Given the description of an element on the screen output the (x, y) to click on. 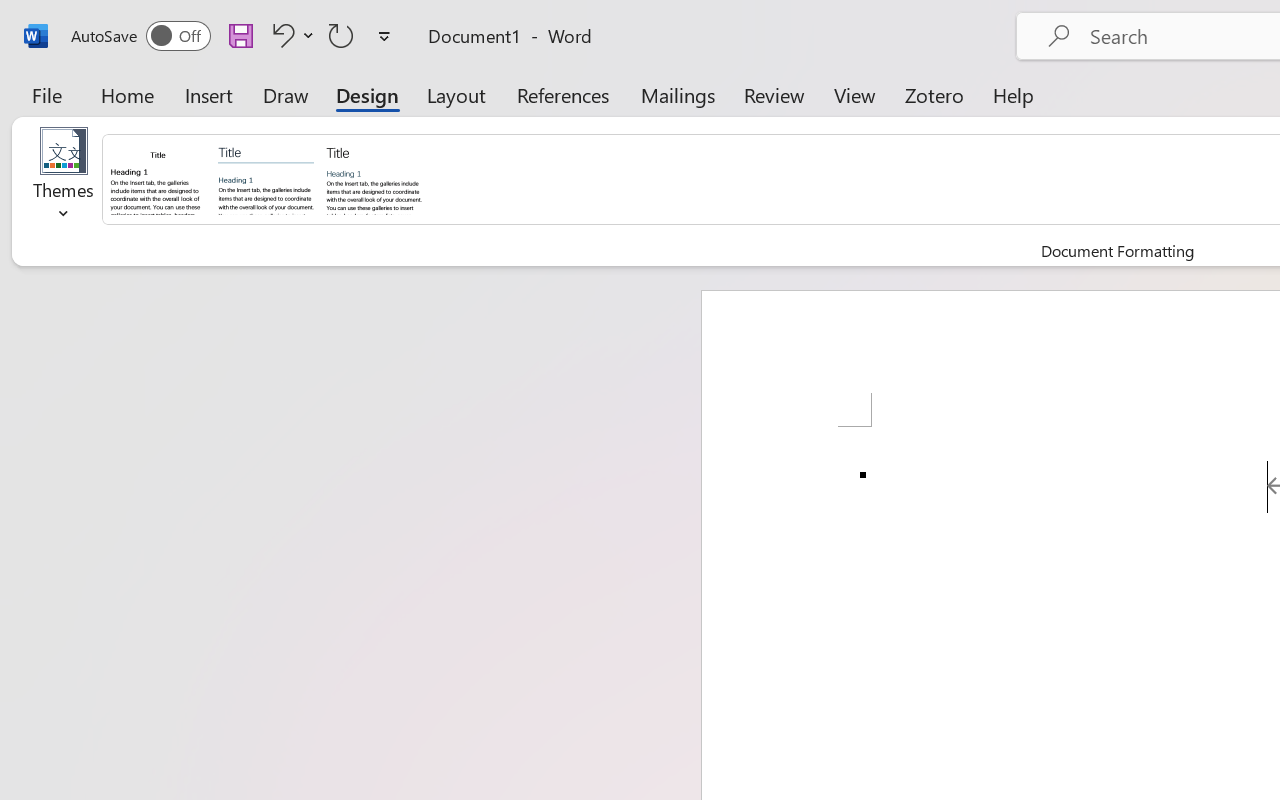
Undo Apply Quick Style Set (290, 35)
Undo Apply Quick Style Set (280, 35)
